Given the description of an element on the screen output the (x, y) to click on. 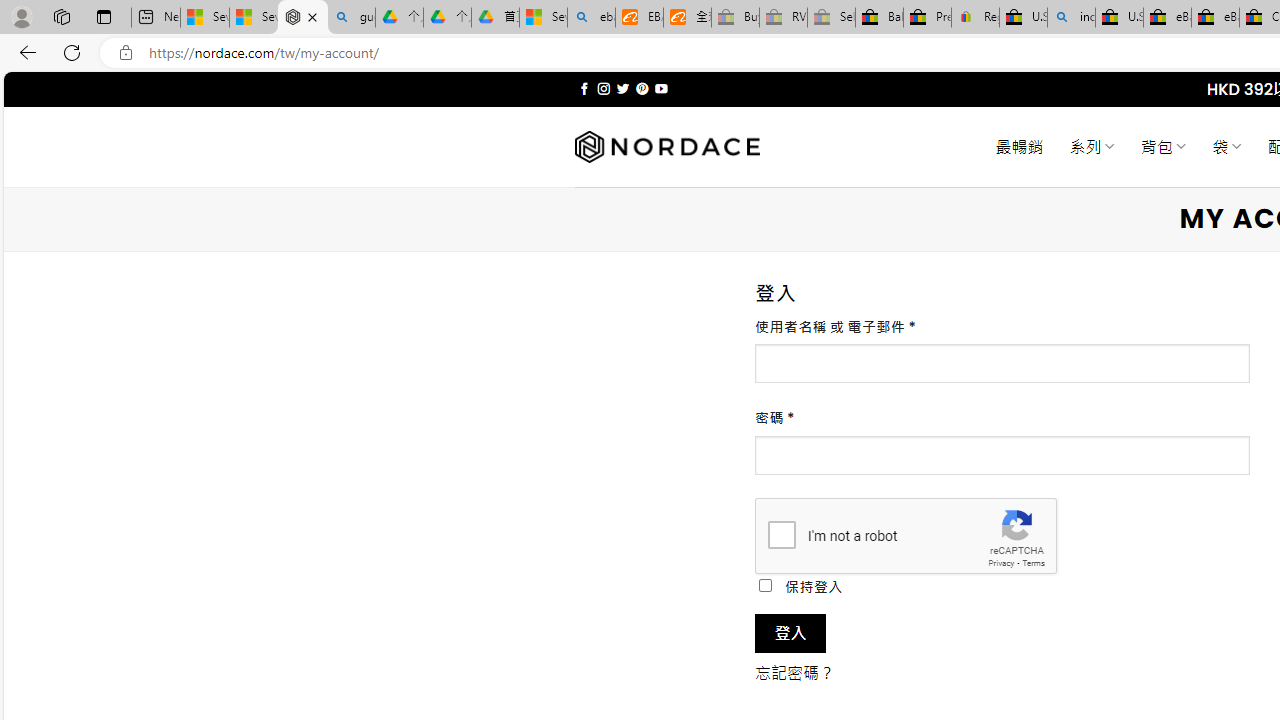
Register: Create a personal eBay account (975, 17)
Press Room - eBay Inc. (927, 17)
Terms (1033, 562)
guge yunpan - Search (351, 17)
